Given the description of an element on the screen output the (x, y) to click on. 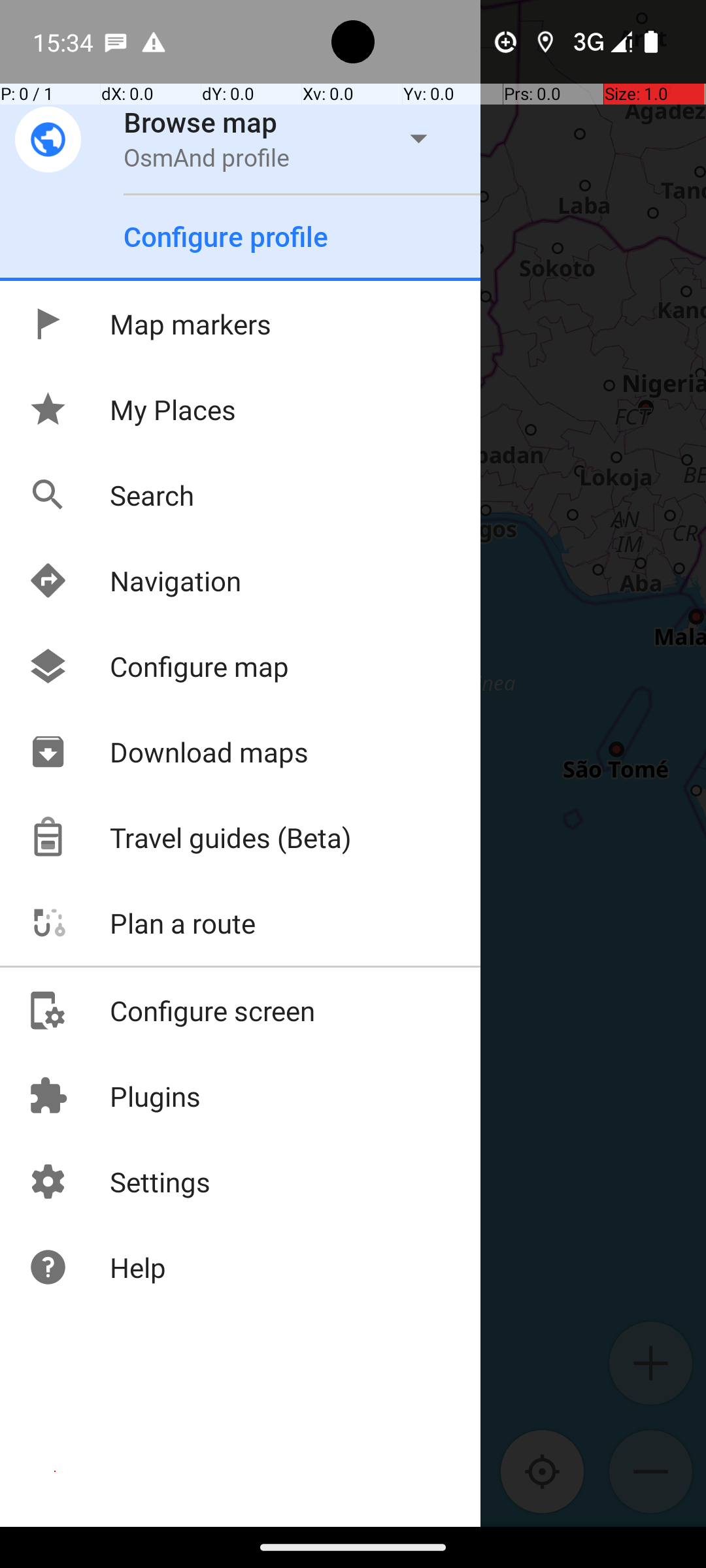
Browse map Element type: android.widget.TextView (200, 121)
OsmAnd profile Element type: android.widget.TextView (206, 156)
Configure profile Element type: android.widget.TextView (225, 235)
Map markers Element type: android.widget.TextView (149, 323)
My Places Element type: android.widget.TextView (131, 409)
Navigation Element type: android.widget.TextView (134, 580)
Download maps Element type: android.widget.TextView (168, 751)
Travel guides (Beta) Element type: android.widget.TextView (189, 837)
Plan a route Element type: android.widget.TextView (141, 922)
Configure screen Element type: android.widget.TextView (171, 1010)
Plugins Element type: android.widget.TextView (114, 1095)
Help Element type: android.widget.TextView (96, 1266)
